Given the description of an element on the screen output the (x, y) to click on. 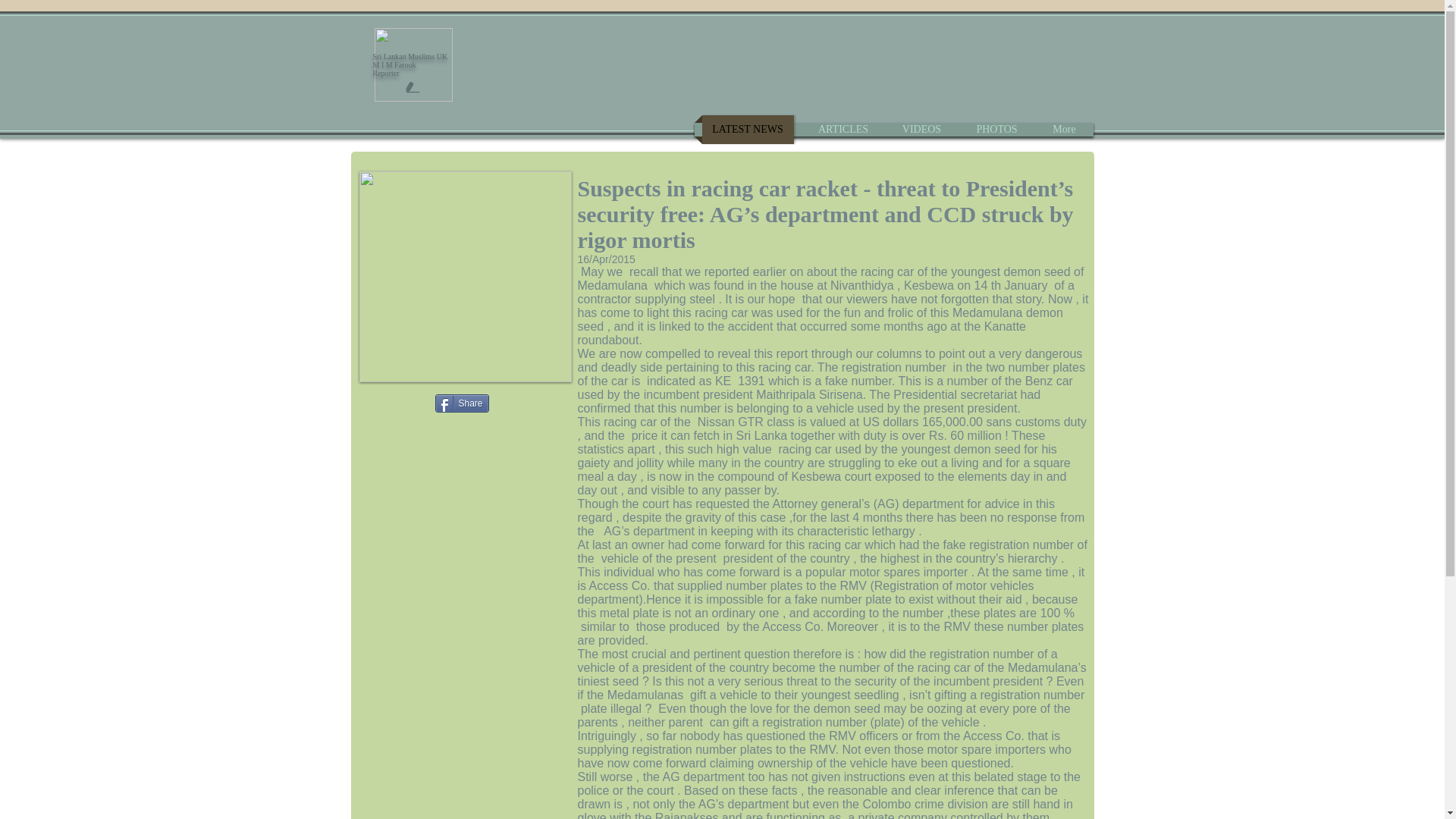
Share (462, 402)
Twitter Tweet (397, 401)
LATEST NEWS (748, 129)
